Given the description of an element on the screen output the (x, y) to click on. 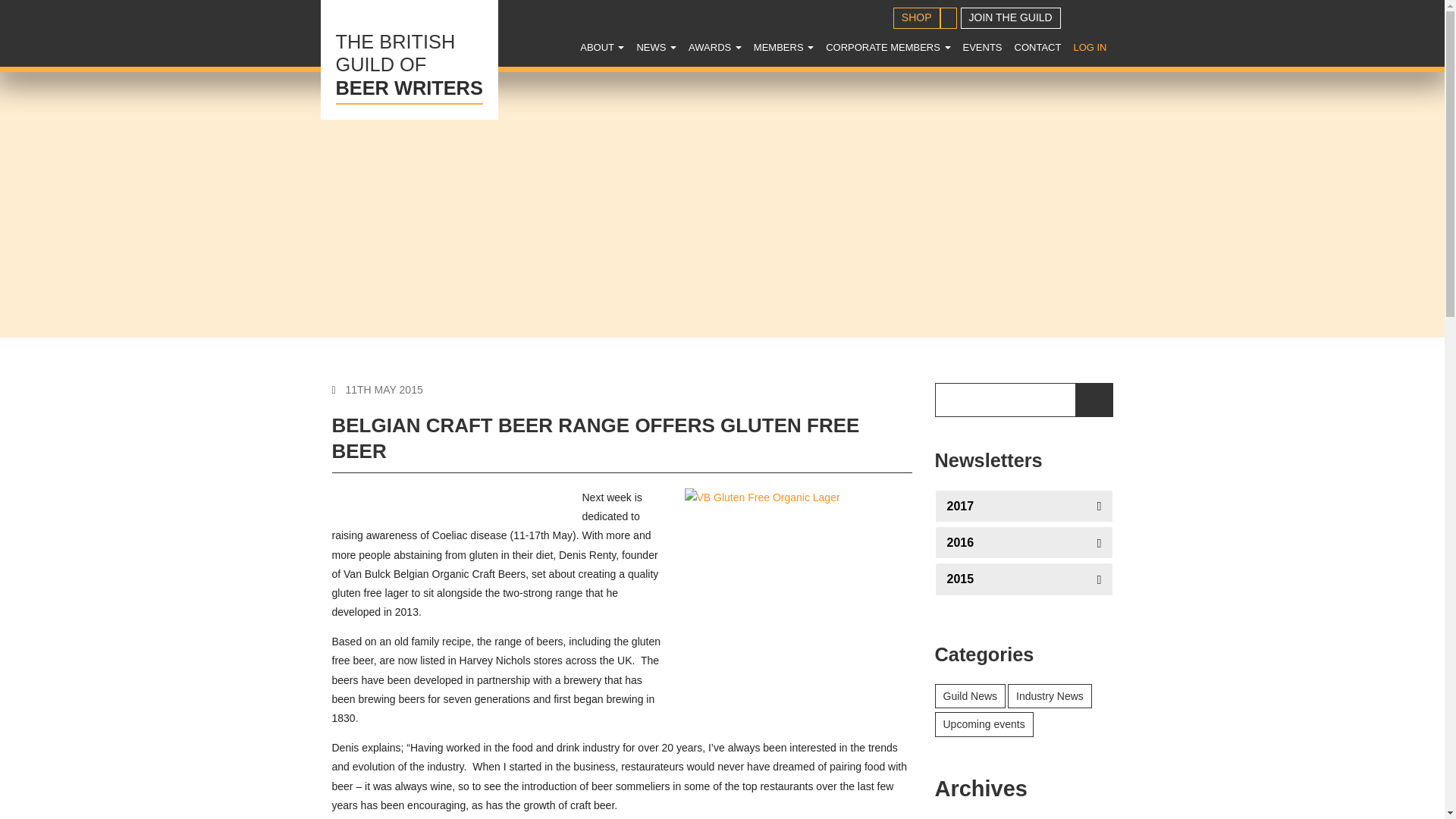
AWARDS (715, 47)
MEMBERS (783, 47)
News (656, 47)
Awards (715, 47)
Members (783, 47)
CORPORATE MEMBERS (887, 47)
Search (1108, 55)
CONTACT (1038, 47)
NEWS (656, 47)
About (601, 47)
SHOP (408, 59)
LOG IN (916, 17)
EVENTS (1089, 47)
ABOUT (982, 47)
